Given the description of an element on the screen output the (x, y) to click on. 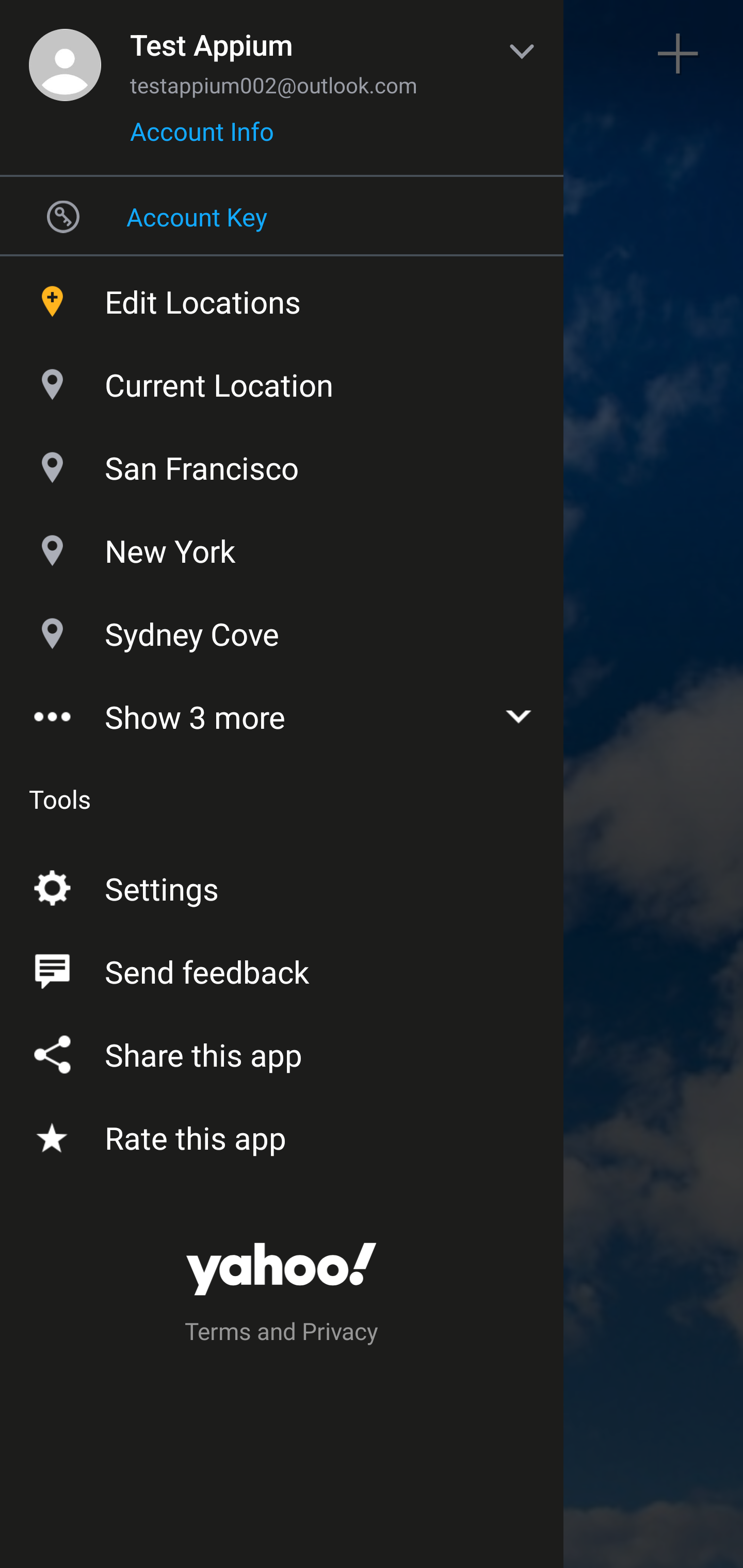
Sidebar (64, 54)
Account Info (202, 137)
Account Key (281, 216)
Edit Locations (281, 296)
Current Location (281, 379)
San Francisco (281, 462)
New York (281, 546)
Sydney Cove (281, 629)
Settings (281, 884)
Send feedback (281, 967)
Share this app (281, 1050)
Terms and Privacy Terms and privacy button (281, 1334)
